Given the description of an element on the screen output the (x, y) to click on. 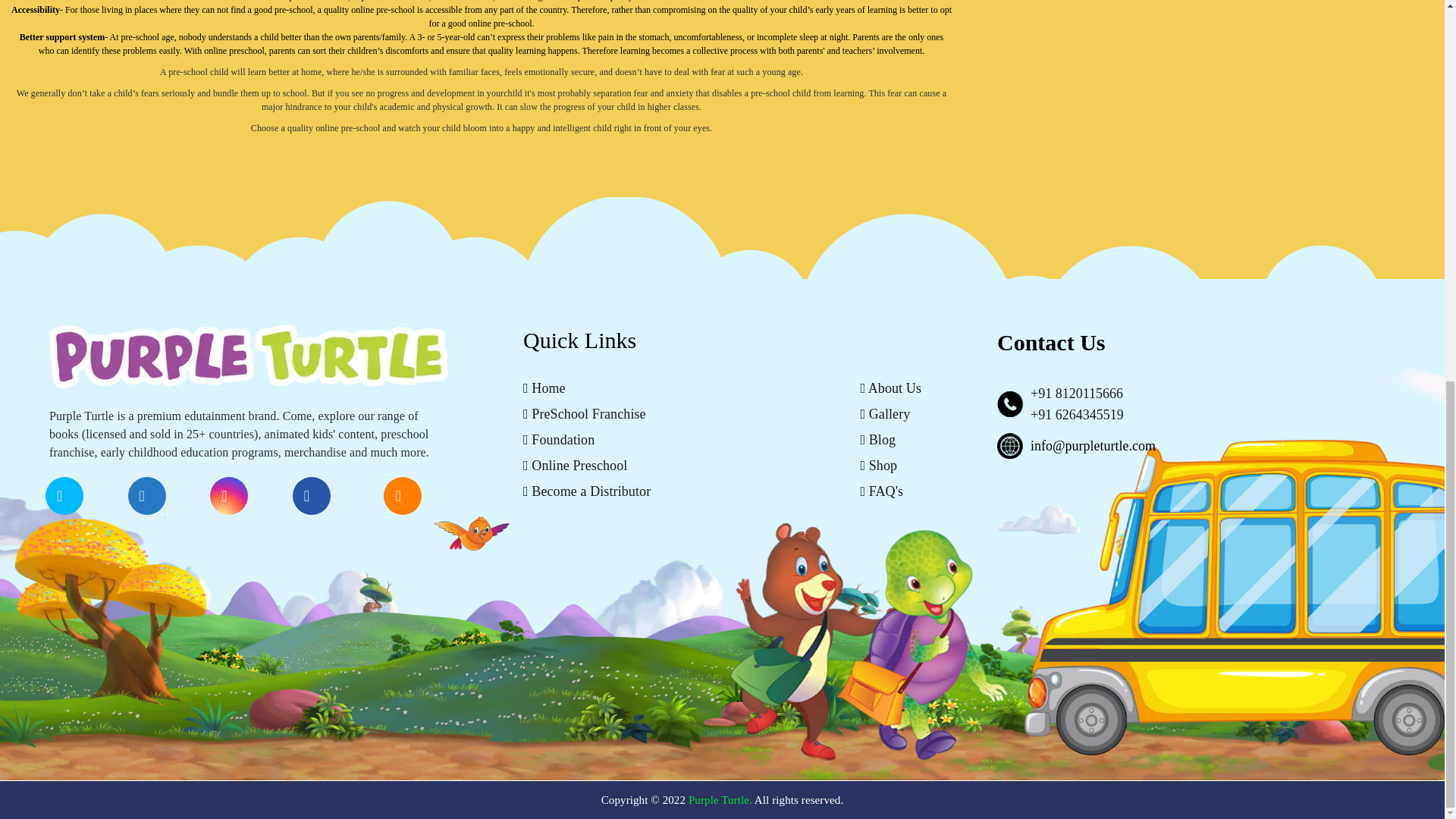
Importance Of Reading Books For Kids (1201, 399)
Curriculum For Preschoolers In Home-Schooling (1223, 747)
Five Activities For Kids To Play And Learn (1209, 660)
Education Trend Post COVID-19 (1186, 51)
Homeschool May Be Better Than Traditional School (1230, 138)
Role Of Internet In Today'S Education (1197, 486)
Help Your Child Improve Writing Skills (1202, 226)
5 Misconceptions About Homeschooling (1203, 573)
Encourage Children To Learn (1178, 312)
